Given the description of an element on the screen output the (x, y) to click on. 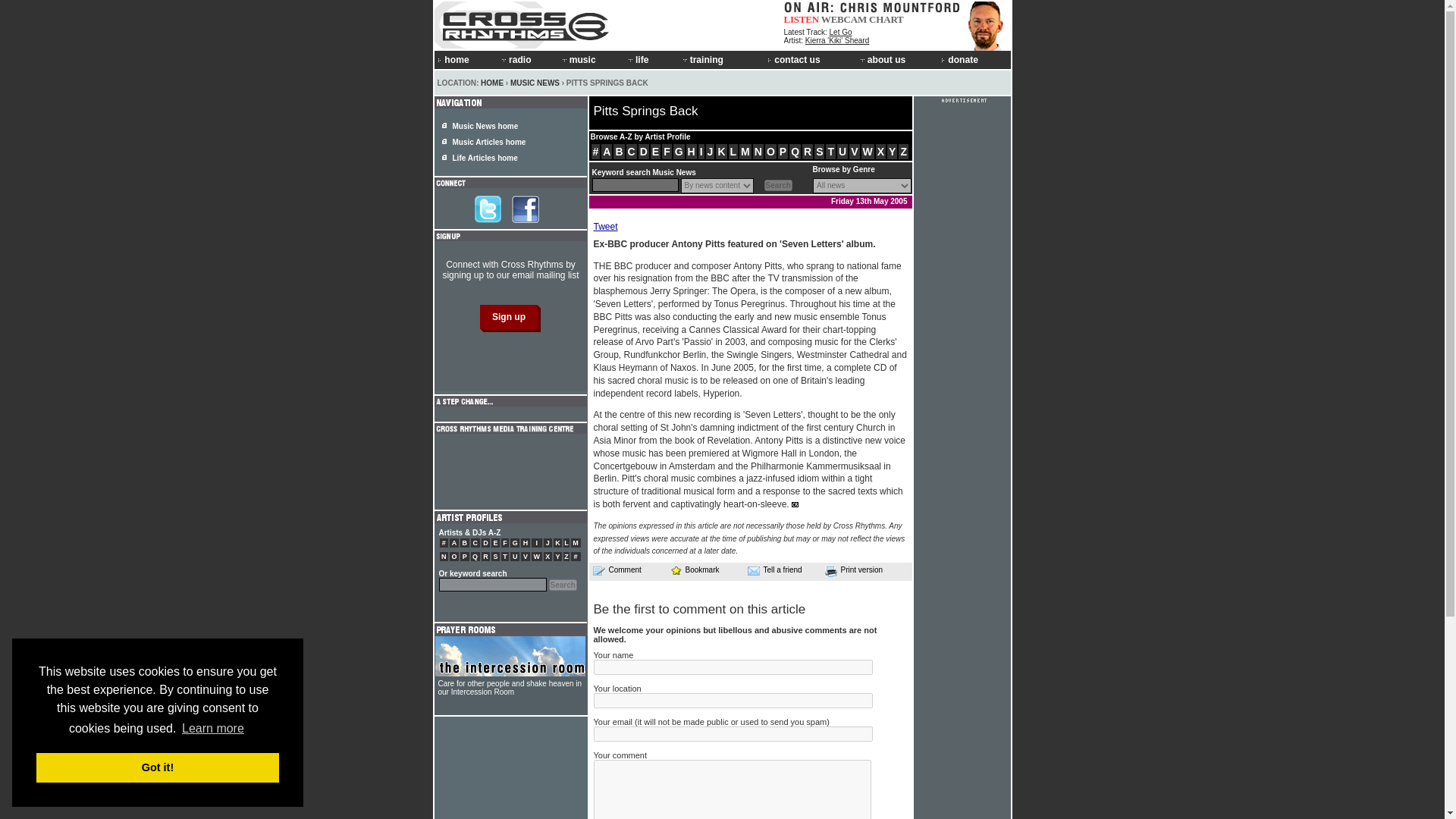
contact us (811, 59)
music (591, 59)
about us (898, 59)
life (651, 59)
Let Go (840, 31)
radio (528, 59)
Learn more (212, 728)
training (723, 59)
Kierra 'Kiki' Sheard (837, 40)
Got it! (157, 767)
LISTEN (801, 19)
Search (562, 584)
Sign up (508, 316)
3rd party ad content (510, 471)
home (466, 59)
